Given the description of an element on the screen output the (x, y) to click on. 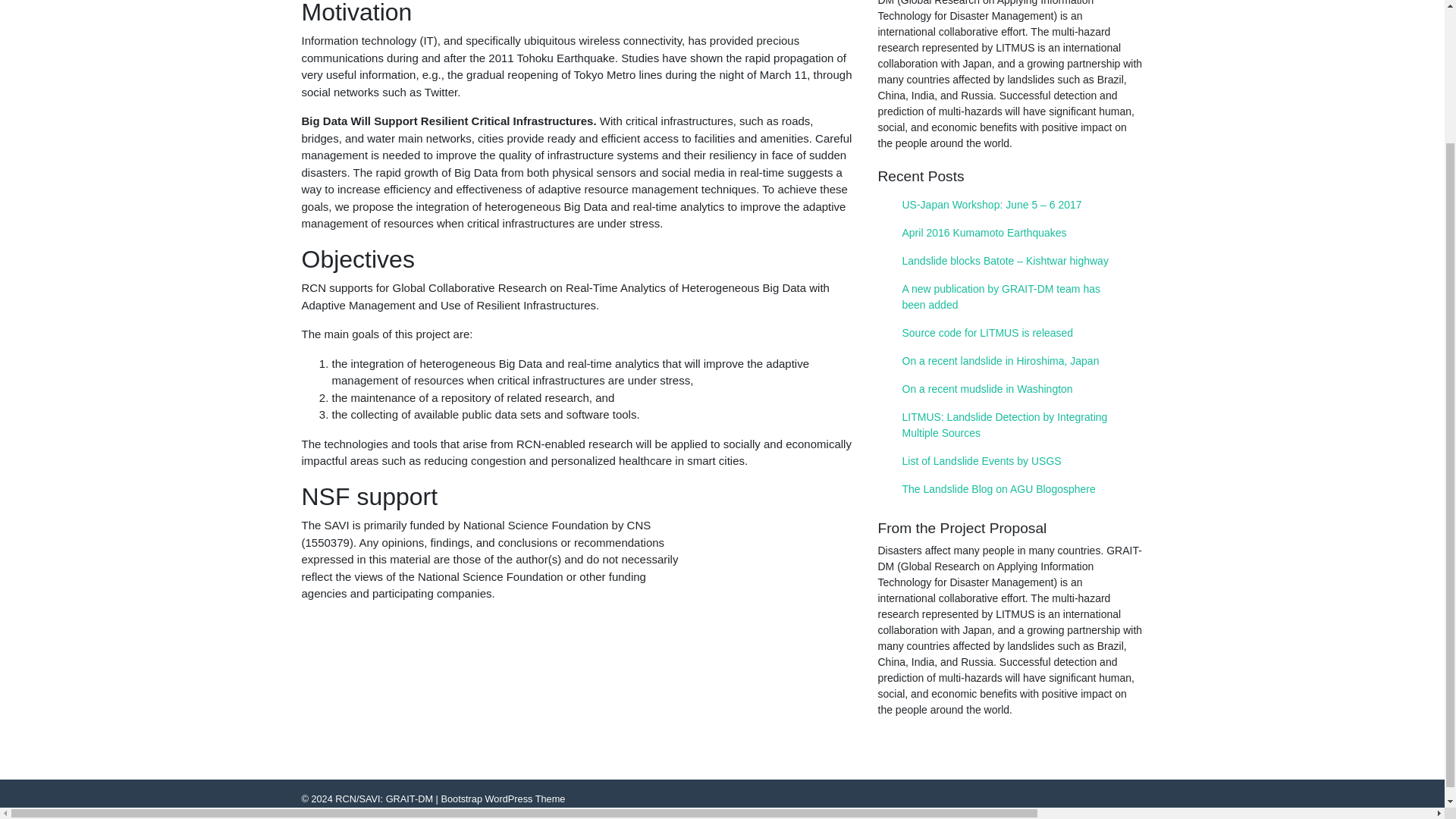
List of Landslide Events by USGS (1009, 461)
A new publication by GRAIT-DM team has been added (1009, 297)
LITMUS: Landslide Detection by Integrating Multiple Sources (1009, 425)
On a recent mudslide in Washington (1009, 389)
April 2016 Kumamoto Earthquakes (1009, 233)
Bootstrap WordPress Theme (502, 798)
On a recent landslide in Hiroshima, Japan (1009, 361)
Source code for LITMUS is released (1009, 333)
The Landslide Blog on AGU Blogosphere (1009, 489)
